Given the description of an element on the screen output the (x, y) to click on. 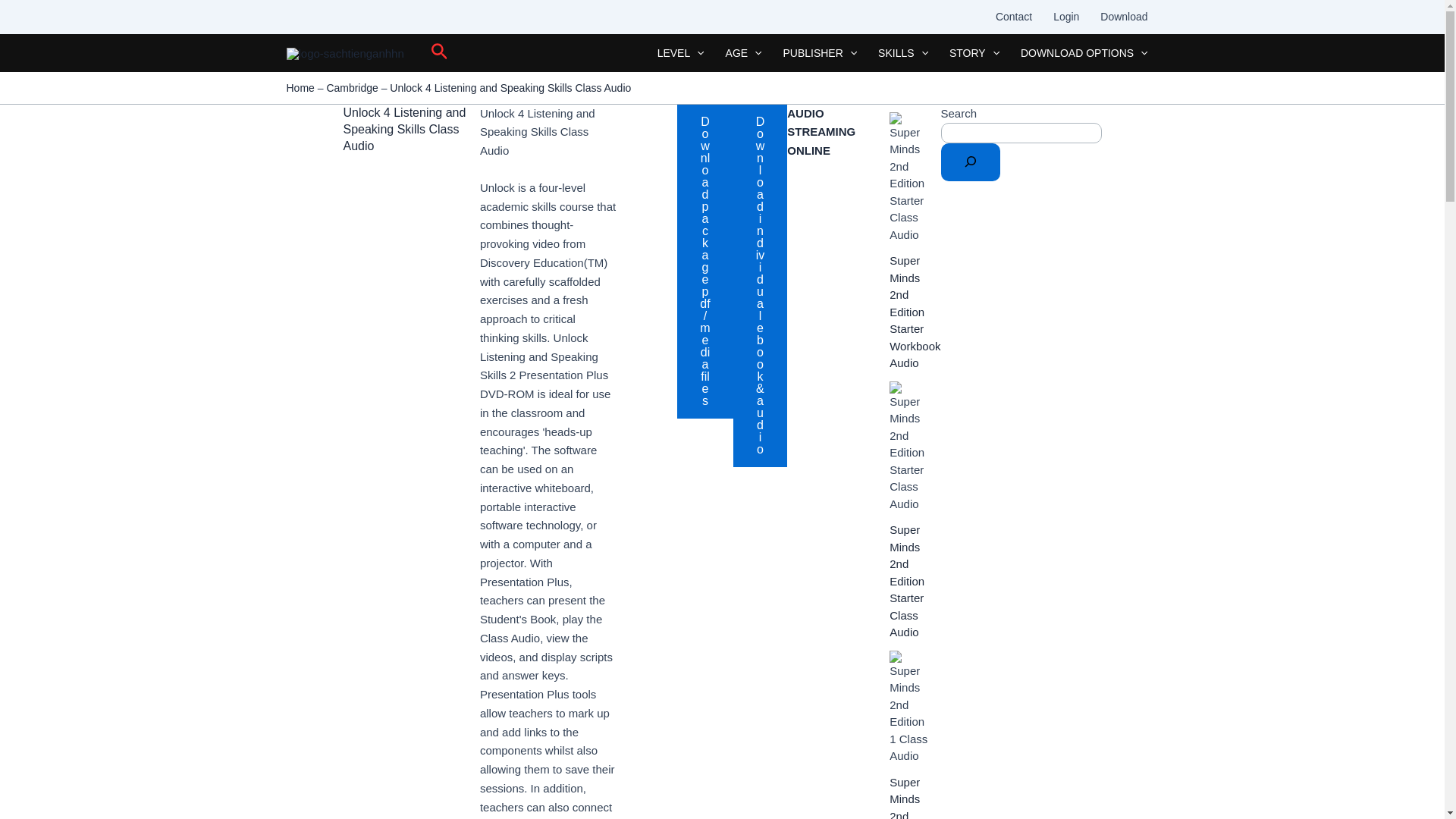
LEVEL (680, 53)
Login (1065, 17)
PUBLISHER (819, 53)
SKILLS (903, 53)
AGE (743, 53)
Download (1123, 17)
Contact (1013, 17)
